Given the description of an element on the screen output the (x, y) to click on. 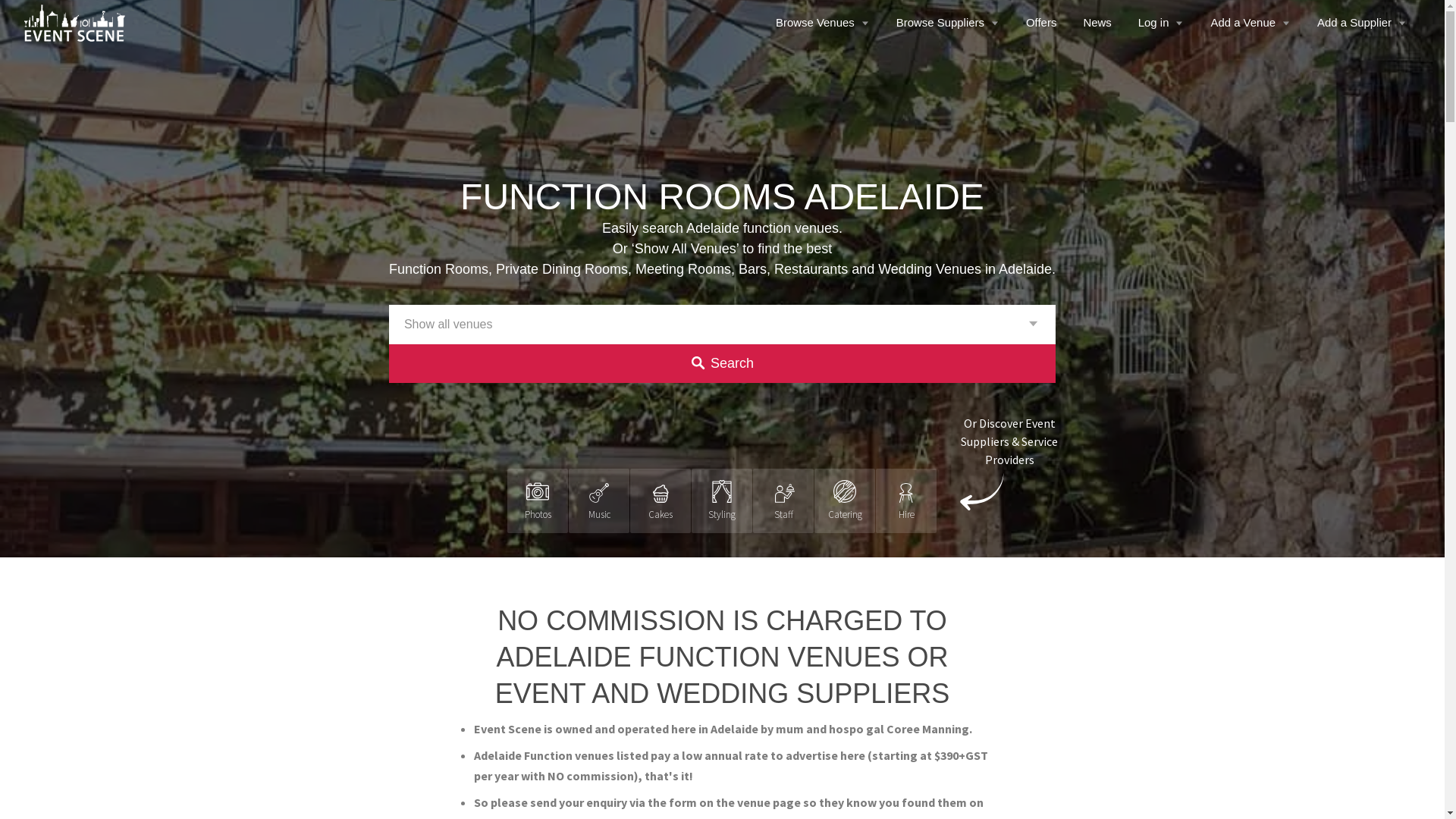
Hire Element type: text (905, 500)
Log in Element type: text (1162, 22)
Browse Venues Element type: text (824, 22)
Staff Element type: text (783, 500)
Styling Element type: text (721, 500)
Photos Element type: text (537, 500)
Add a Venue Element type: text (1251, 22)
Search Element type: text (722, 363)
Catering Element type: text (844, 500)
News Element type: text (1098, 22)
Browse Suppliers Element type: text (949, 22)
Cakes Element type: text (660, 500)
Add a Supplier Element type: text (1363, 22)
Offers Element type: text (1042, 22)
Music Element type: text (598, 500)
